Given the description of an element on the screen output the (x, y) to click on. 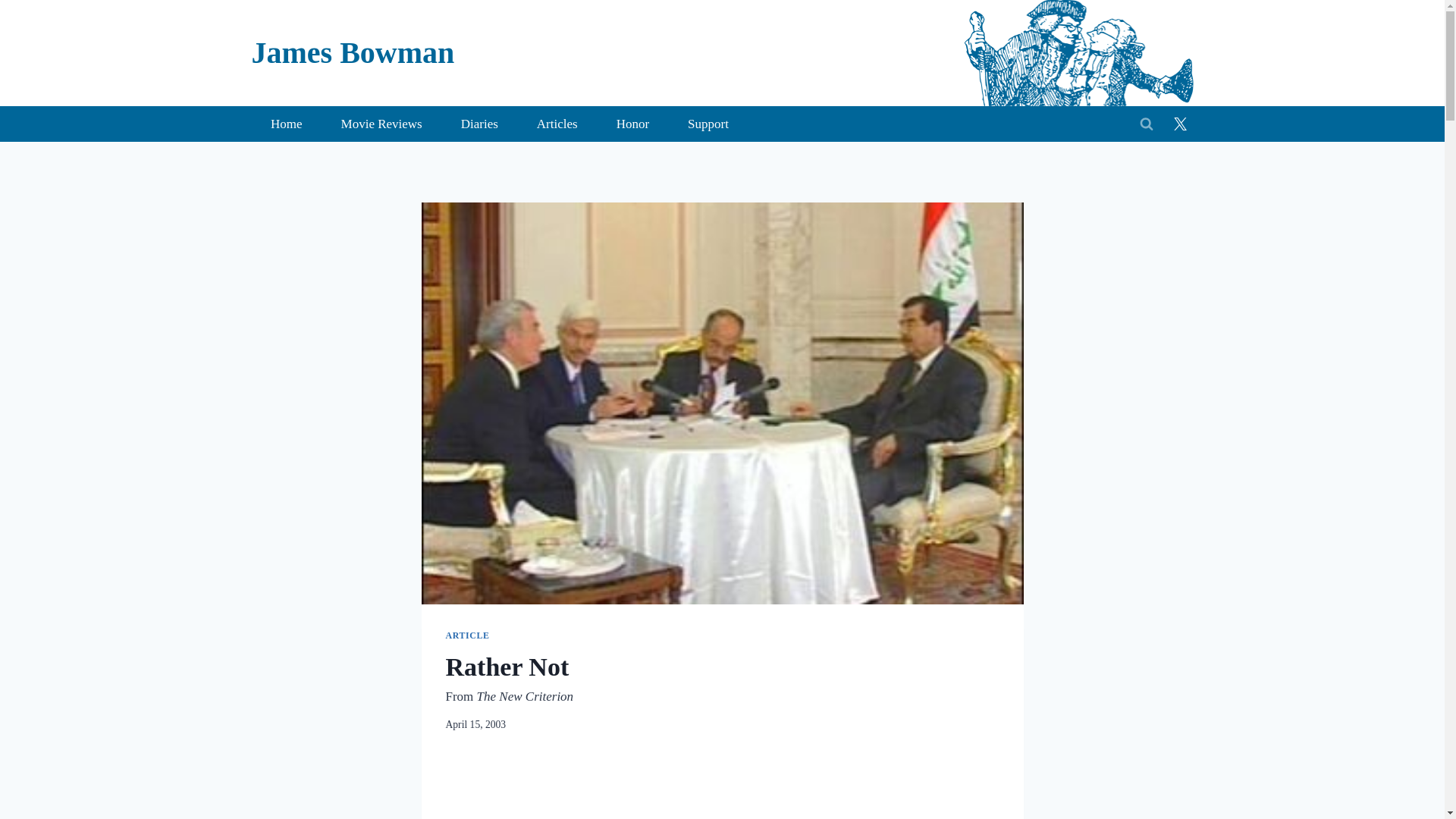
Articles (556, 124)
Honor (632, 124)
Support (708, 124)
ARTICLE (467, 634)
Home (286, 124)
Movie Reviews (381, 124)
Diaries (478, 124)
James Bowman (352, 53)
